Given the description of an element on the screen output the (x, y) to click on. 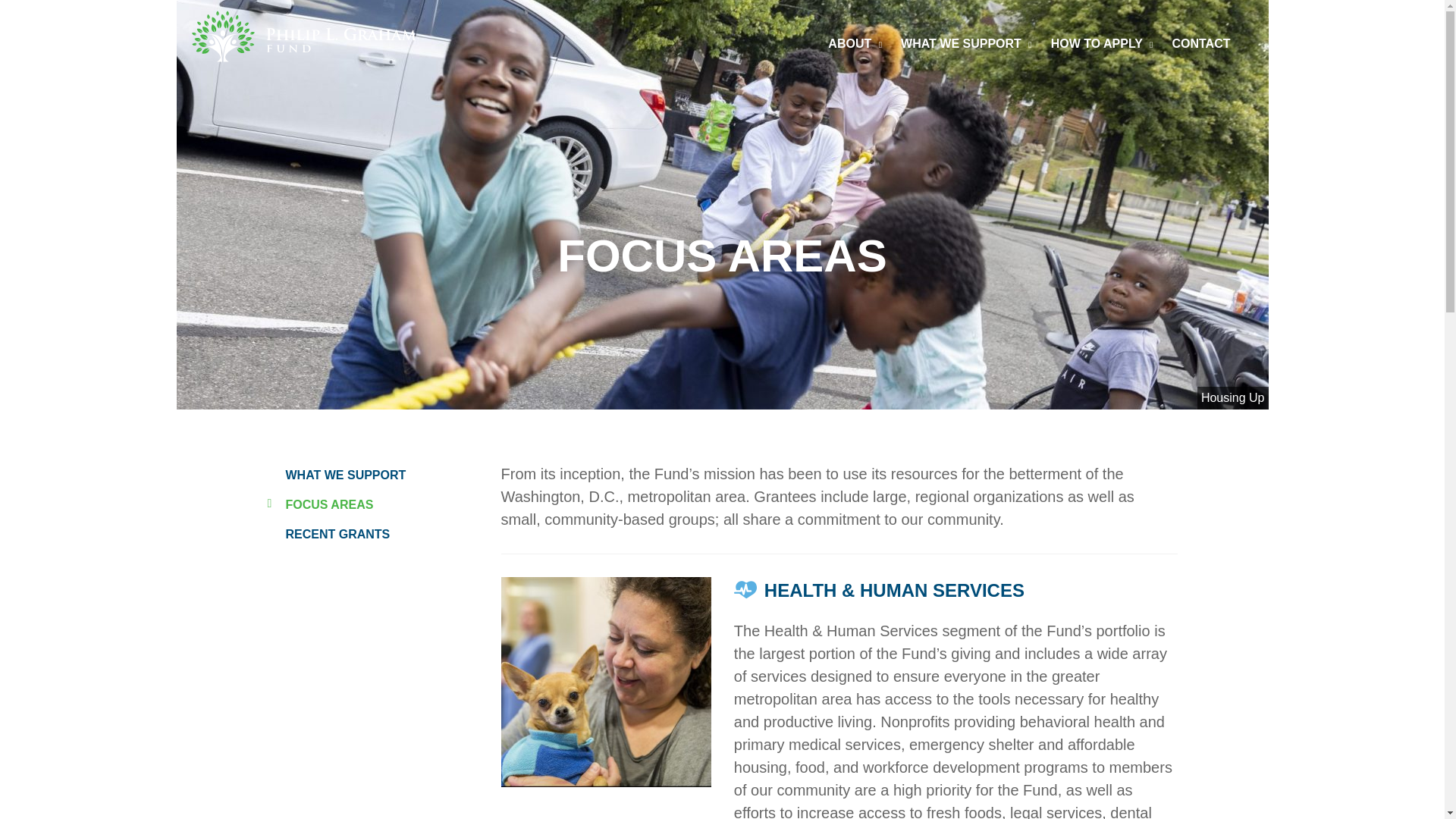
FOCUS AREAS (319, 505)
CONTACT (1200, 43)
WHAT WE SUPPORT (336, 475)
WHAT WE SUPPORT (968, 43)
ABOUT (857, 43)
HOW TO APPLY (1103, 43)
RECENT GRANTS (328, 534)
